Given the description of an element on the screen output the (x, y) to click on. 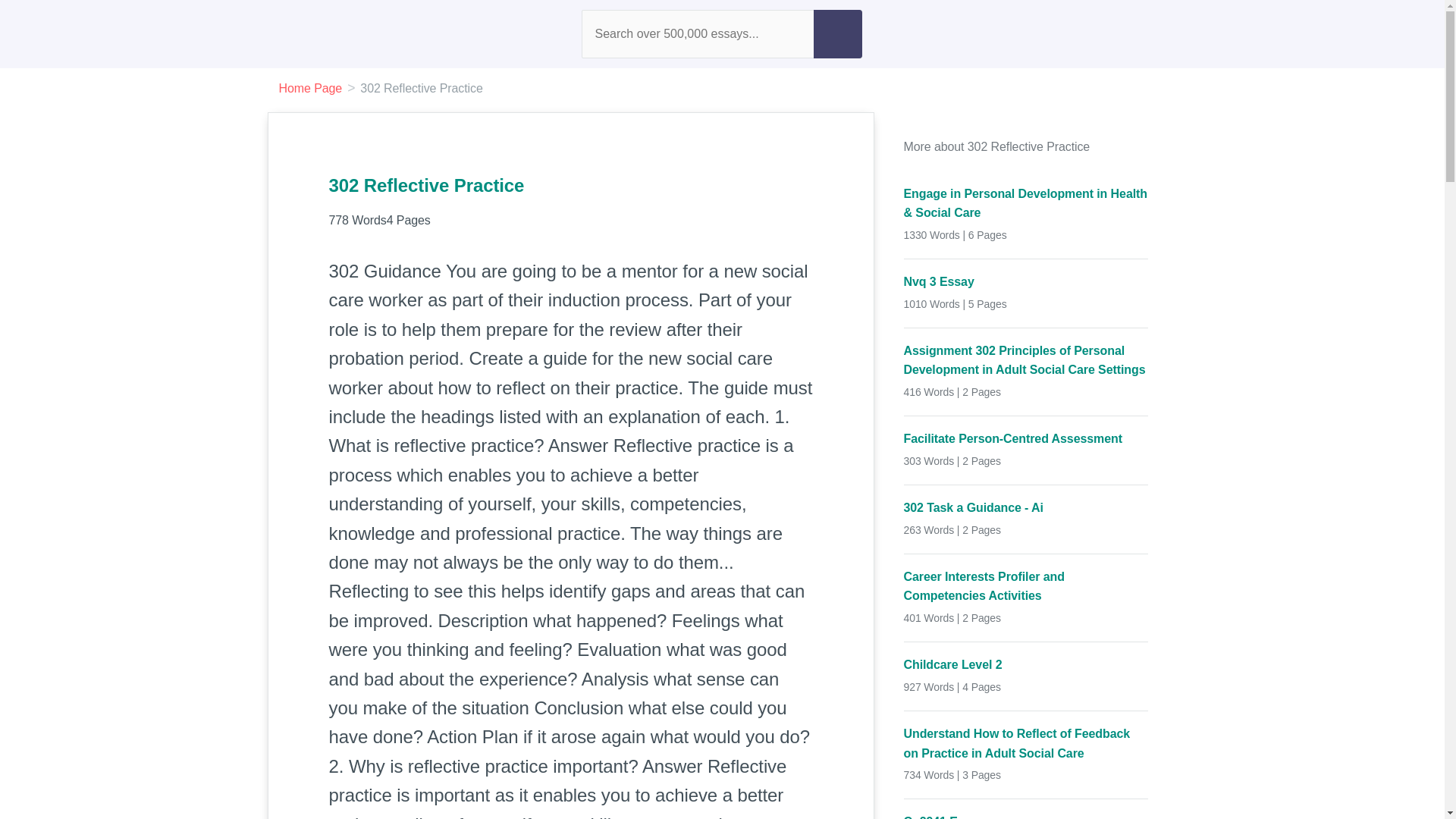
Cu2941 Essay (1026, 815)
Facilitate Person-Centred Assessment (1026, 438)
Childcare Level 2 (1026, 664)
Nvq 3 Essay (1026, 281)
Home Page (310, 88)
Career Interests Profiler and Competencies Activities (1026, 586)
302 Task a Guidance - Ai (1026, 507)
